Given the description of an element on the screen output the (x, y) to click on. 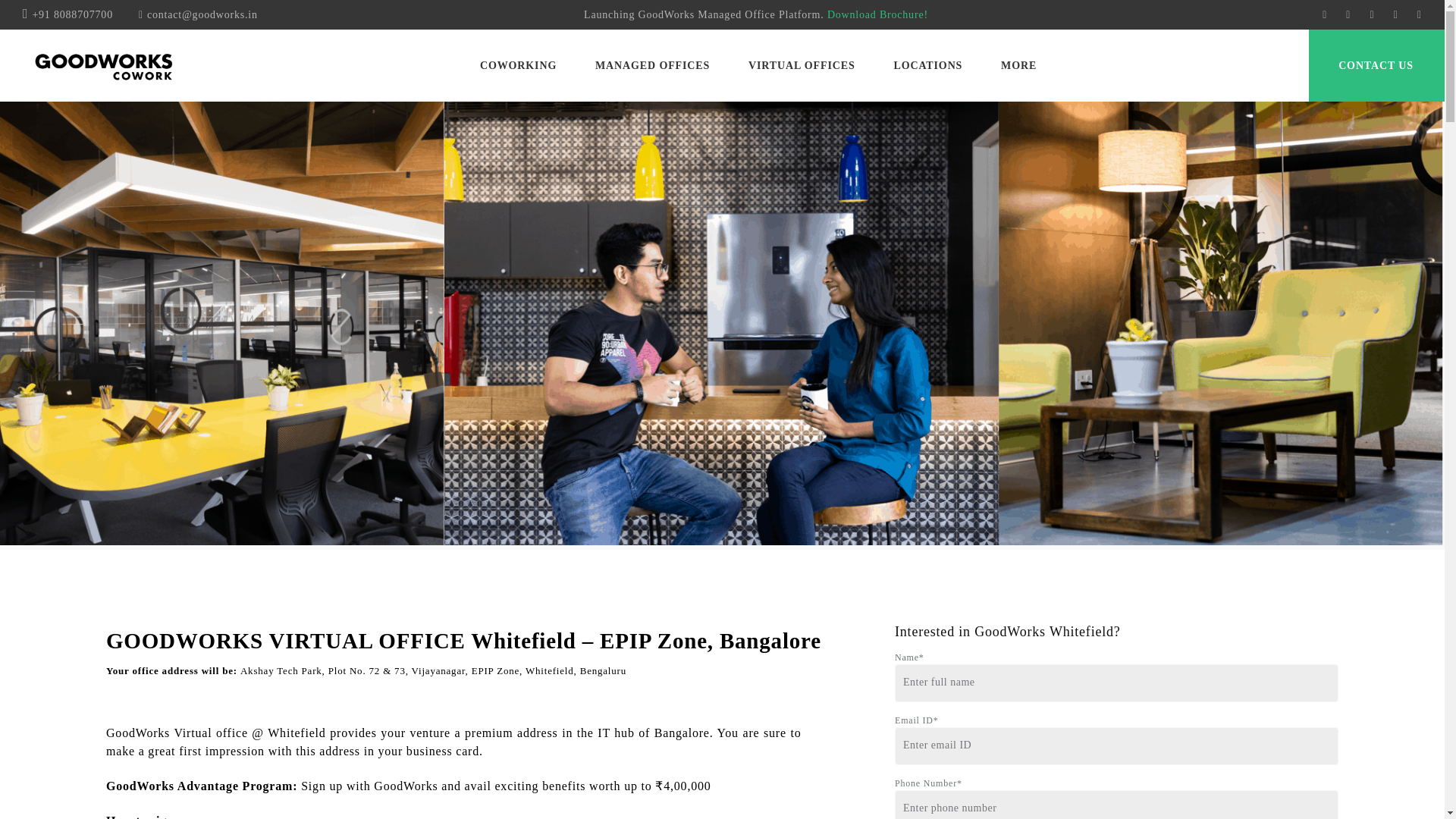
MANAGED OFFICES (652, 66)
Download Brochure! (877, 14)
COWORKING (518, 66)
